Given the description of an element on the screen output the (x, y) to click on. 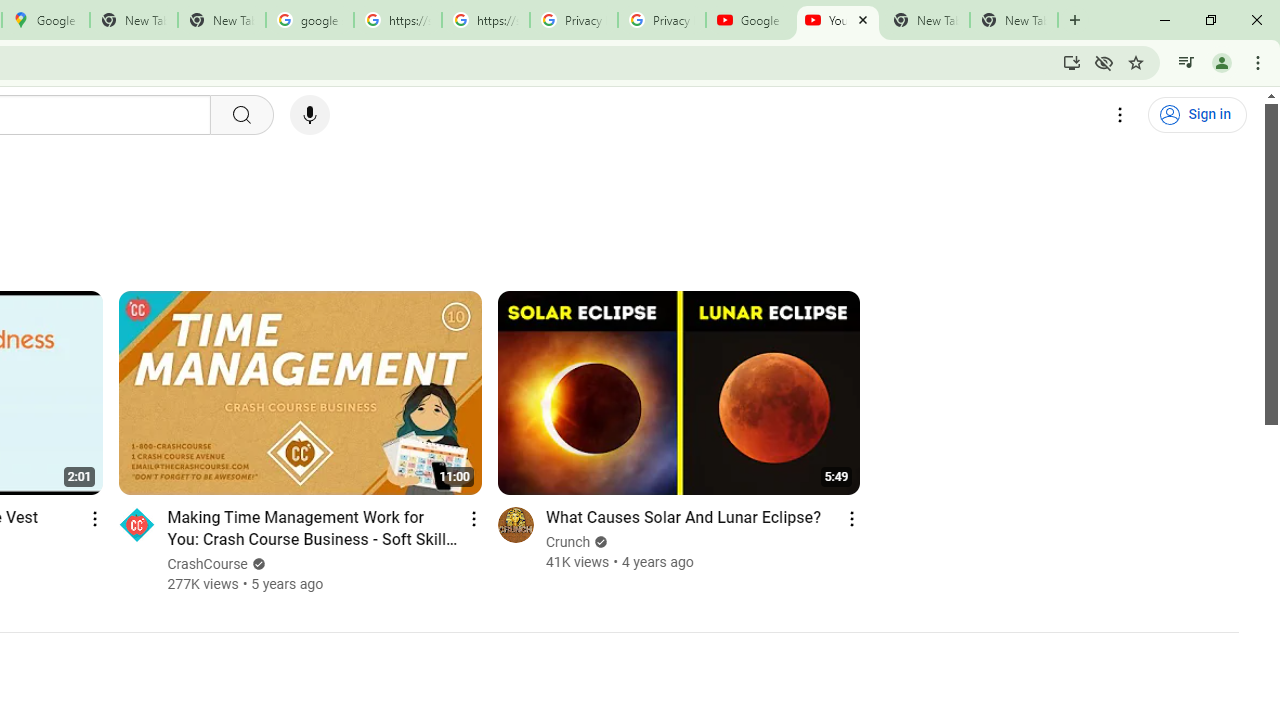
Go to channel (514, 524)
Google - YouTube (749, 20)
Action menu (852, 518)
https://scholar.google.com/ (485, 20)
Install YouTube (1071, 62)
YouTube (837, 20)
